Given the description of an element on the screen output the (x, y) to click on. 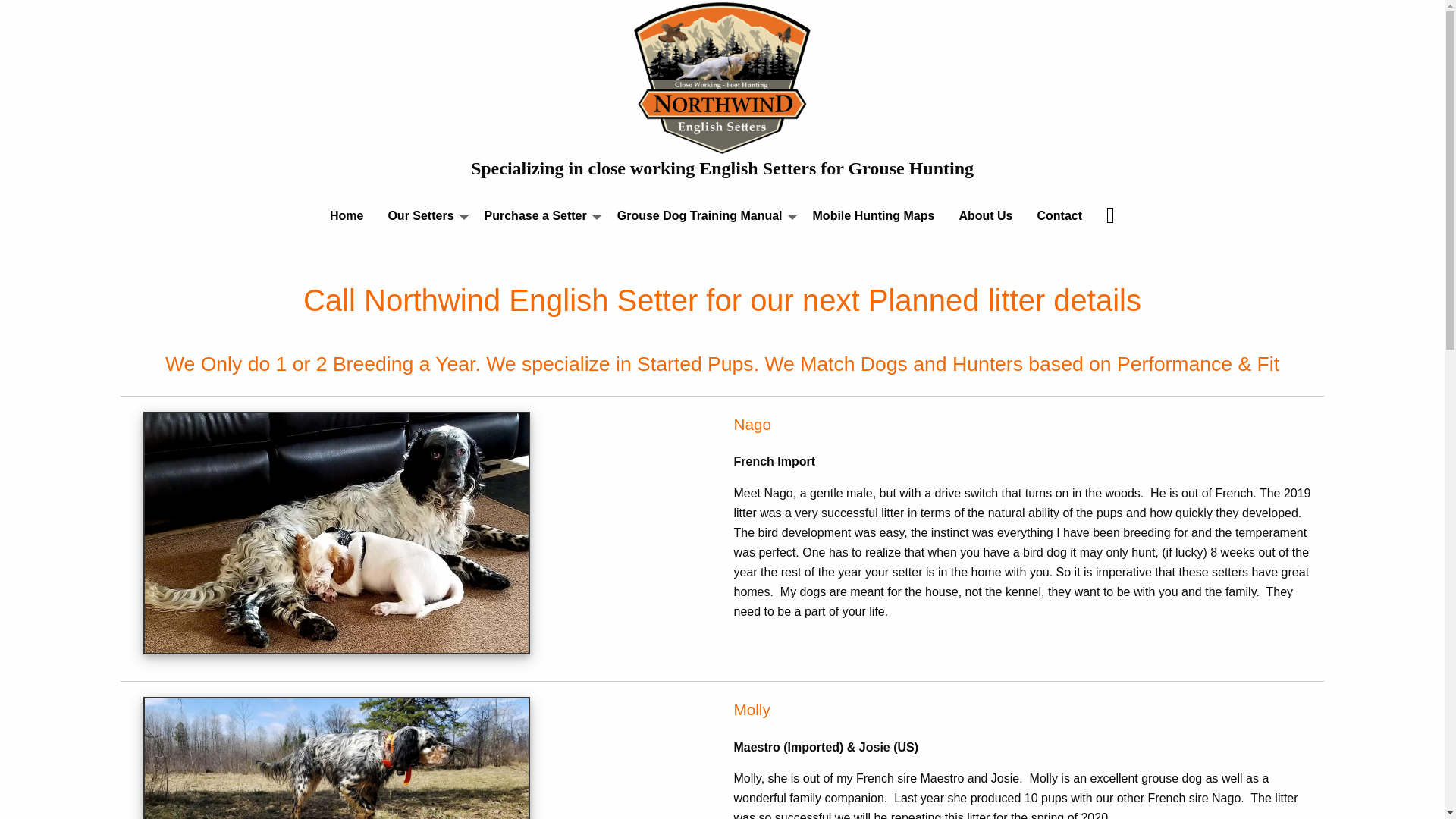
Home (346, 217)
About Us (985, 217)
Grouse Dog Training Manual (702, 217)
Mobile Hunting Maps (873, 217)
Purchase a Setter (538, 217)
Our Setters (423, 217)
Contact (1059, 217)
